Given the description of an element on the screen output the (x, y) to click on. 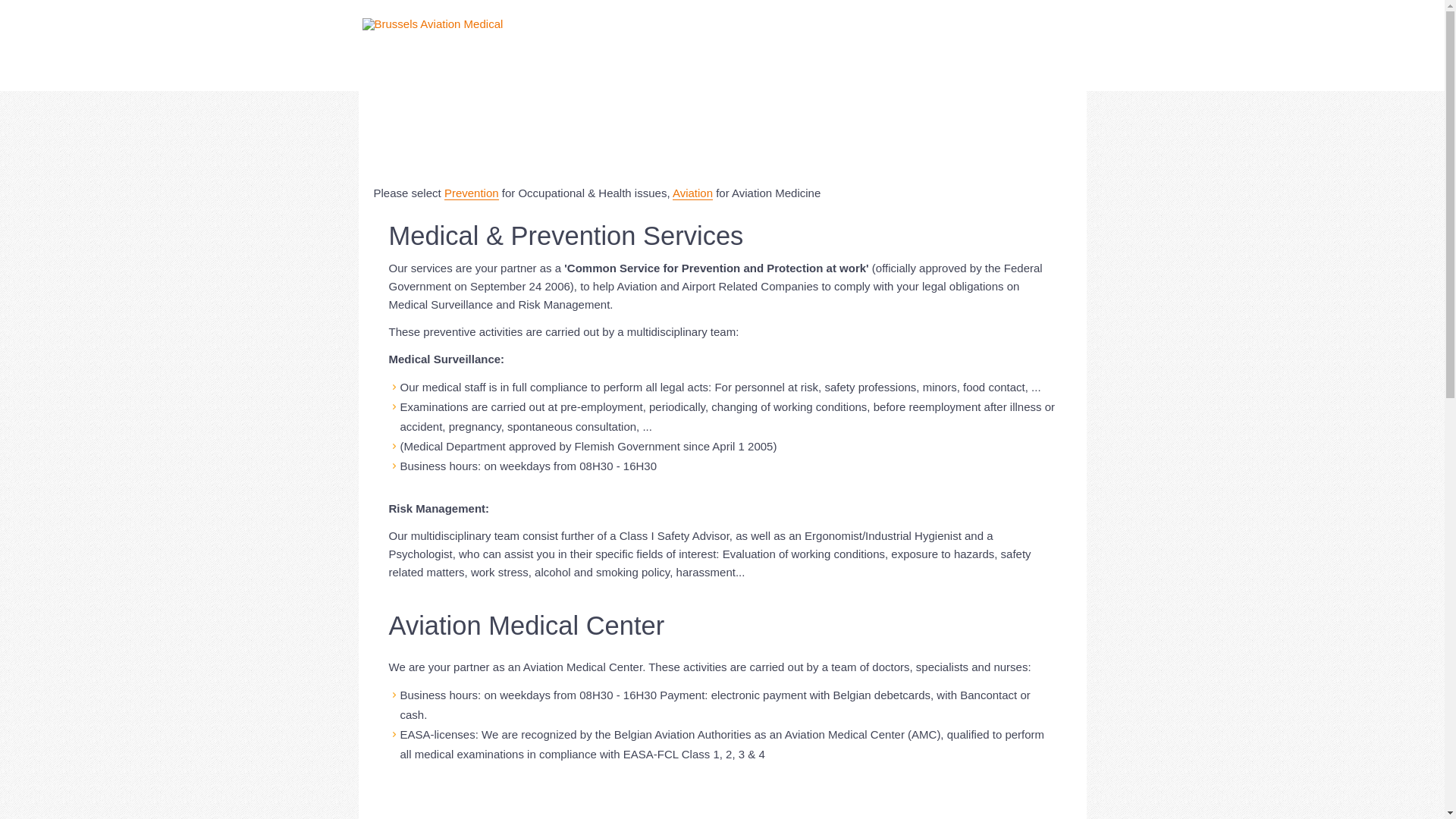
Aviation Element type: text (692, 193)
Prevention Element type: text (471, 193)
Brussels Aviation Medical Element type: hover (432, 24)
Overslaan en naar de inhoud gaan Element type: text (87, 0)
